Given the description of an element on the screen output the (x, y) to click on. 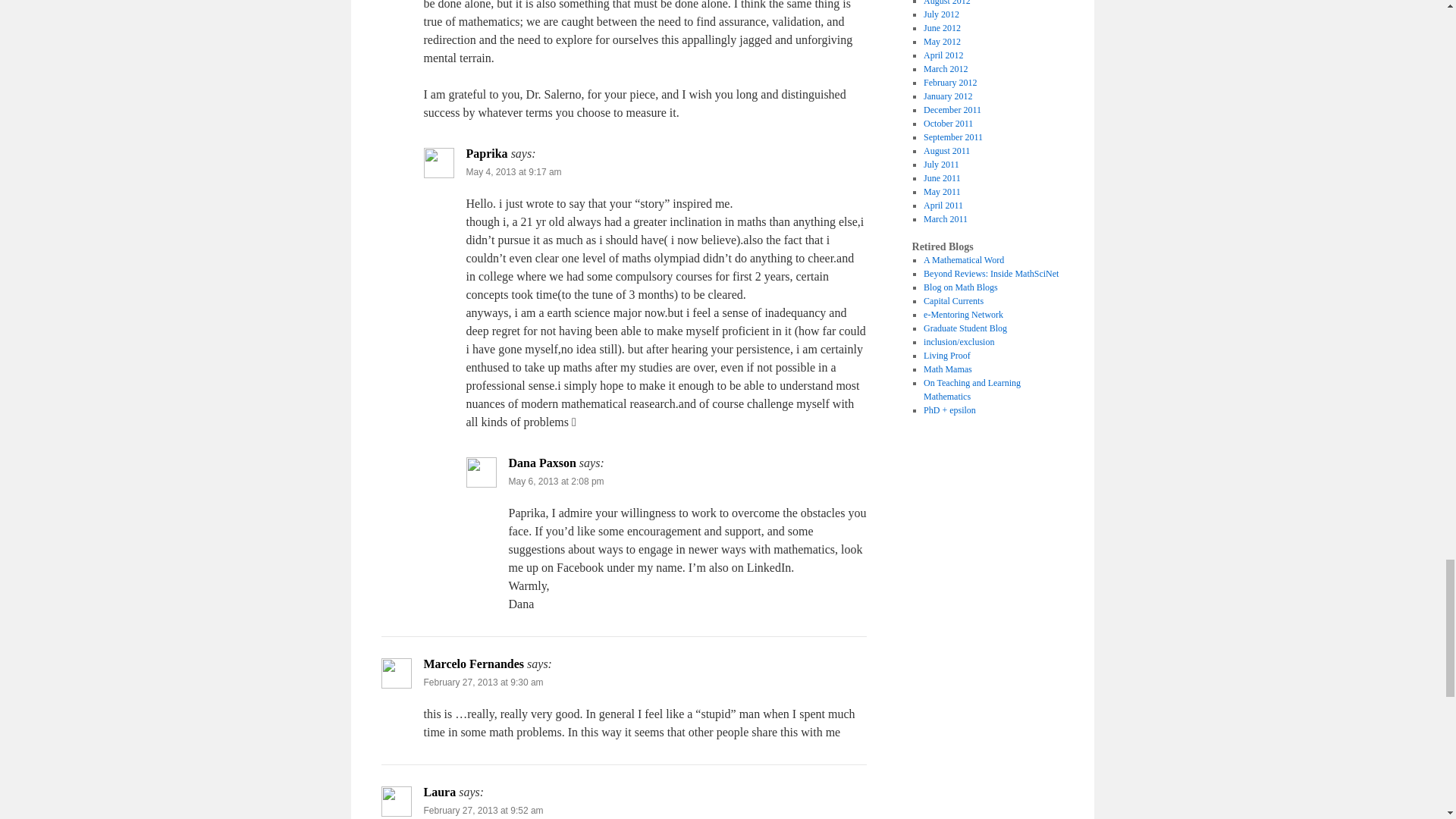
A Mathematical Word (963, 259)
February 27, 2013 at 9:52 am (483, 810)
May 6, 2013 at 2:08 pm (556, 480)
May 4, 2013 at 9:17 am (512, 172)
Capital Currents (953, 300)
Blog on Math Blogs (960, 286)
Beyond Reviews: Inside MathSciNet (990, 273)
February 27, 2013 at 9:30 am (483, 682)
Living Proof (947, 355)
Graduate Student Blog (965, 327)
